Given the description of an element on the screen output the (x, y) to click on. 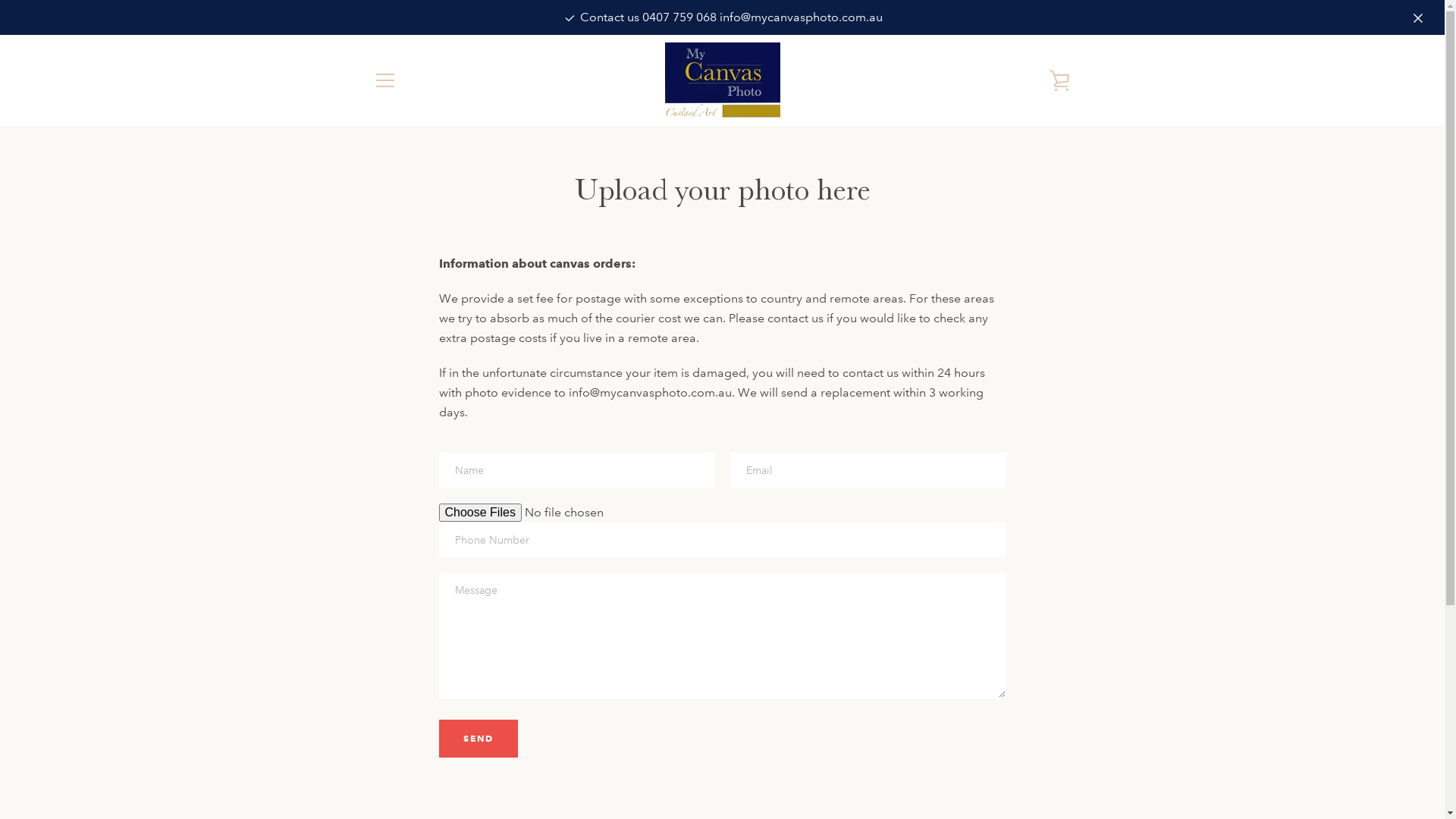
SEARCH Element type: text (393, 609)
Powered by Shopify Element type: text (767, 766)
Skip to content Element type: text (0, 0)
EXPAND NAVIGATION Element type: text (384, 80)
mycanvasphoto Element type: text (735, 756)
VIEW CART Element type: text (1059, 80)
Send Element type: text (477, 738)
SUBSCRIBE Element type: text (1031, 679)
